Given the description of an element on the screen output the (x, y) to click on. 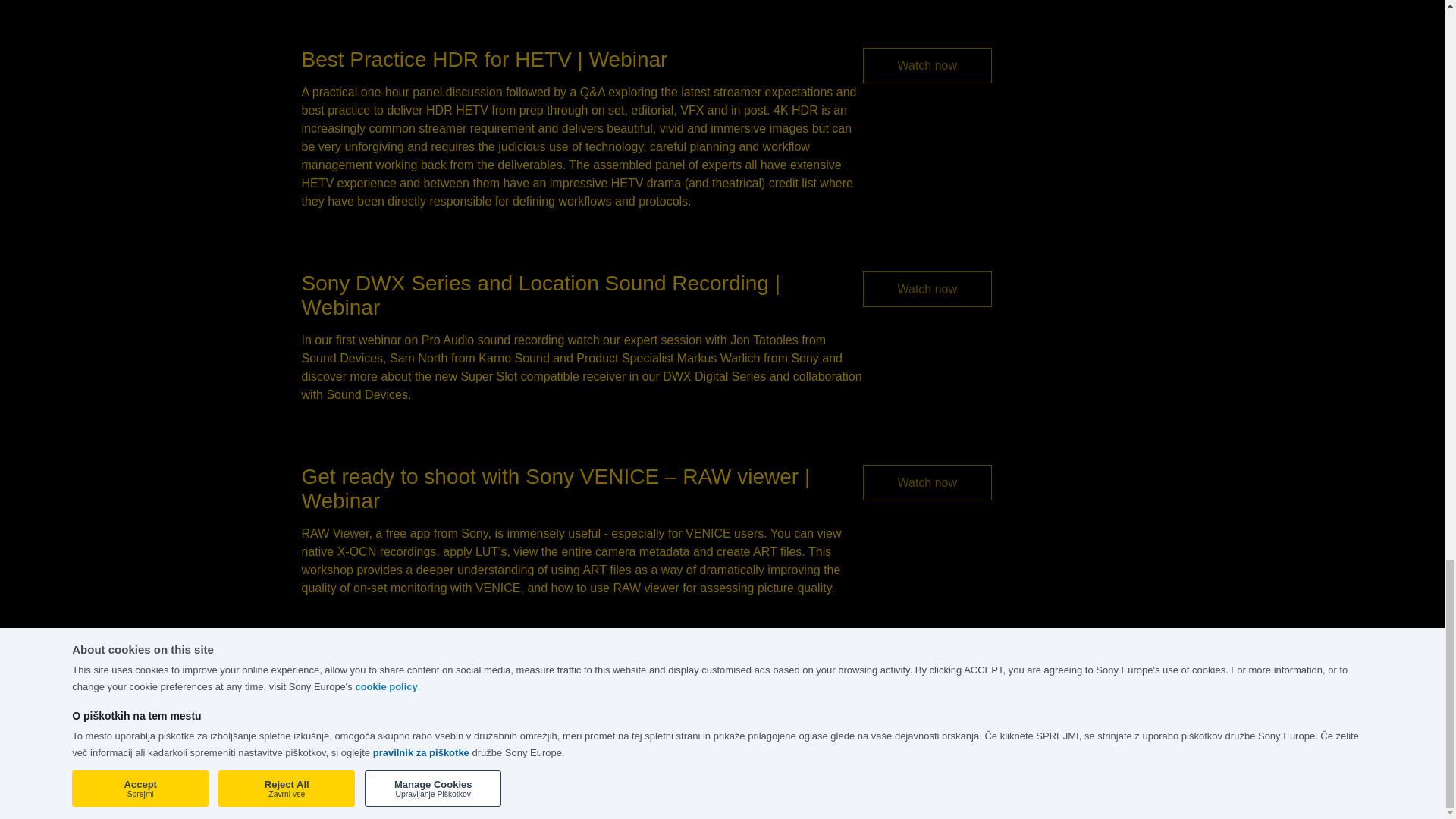
Channel Partners (708, 676)
Contact us (834, 676)
Watch now (927, 482)
Watch now (927, 289)
Press Centre (552, 731)
Change Country, Region or Language (398, 668)
Technology (547, 676)
Watch now (927, 65)
Insight (534, 713)
Alliances (685, 695)
